Given the description of an element on the screen output the (x, y) to click on. 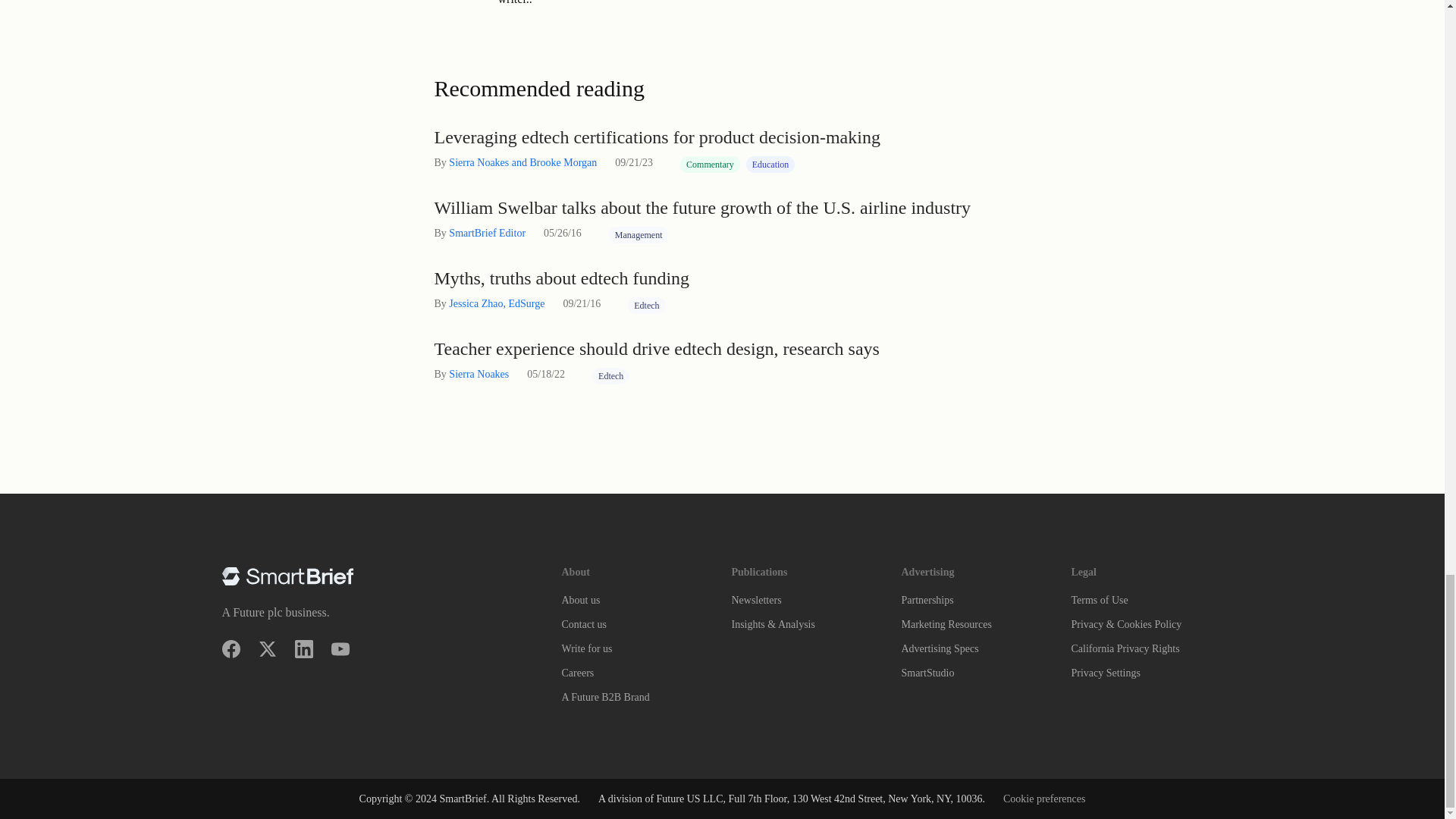
LinkedIn (303, 648)
YouTube (339, 648)
Facebook (230, 648)
Sierra Noakes and Brooke Morgan (522, 162)
Leveraging edtech certifications for product decision-making (721, 137)
